Given the description of an element on the screen output the (x, y) to click on. 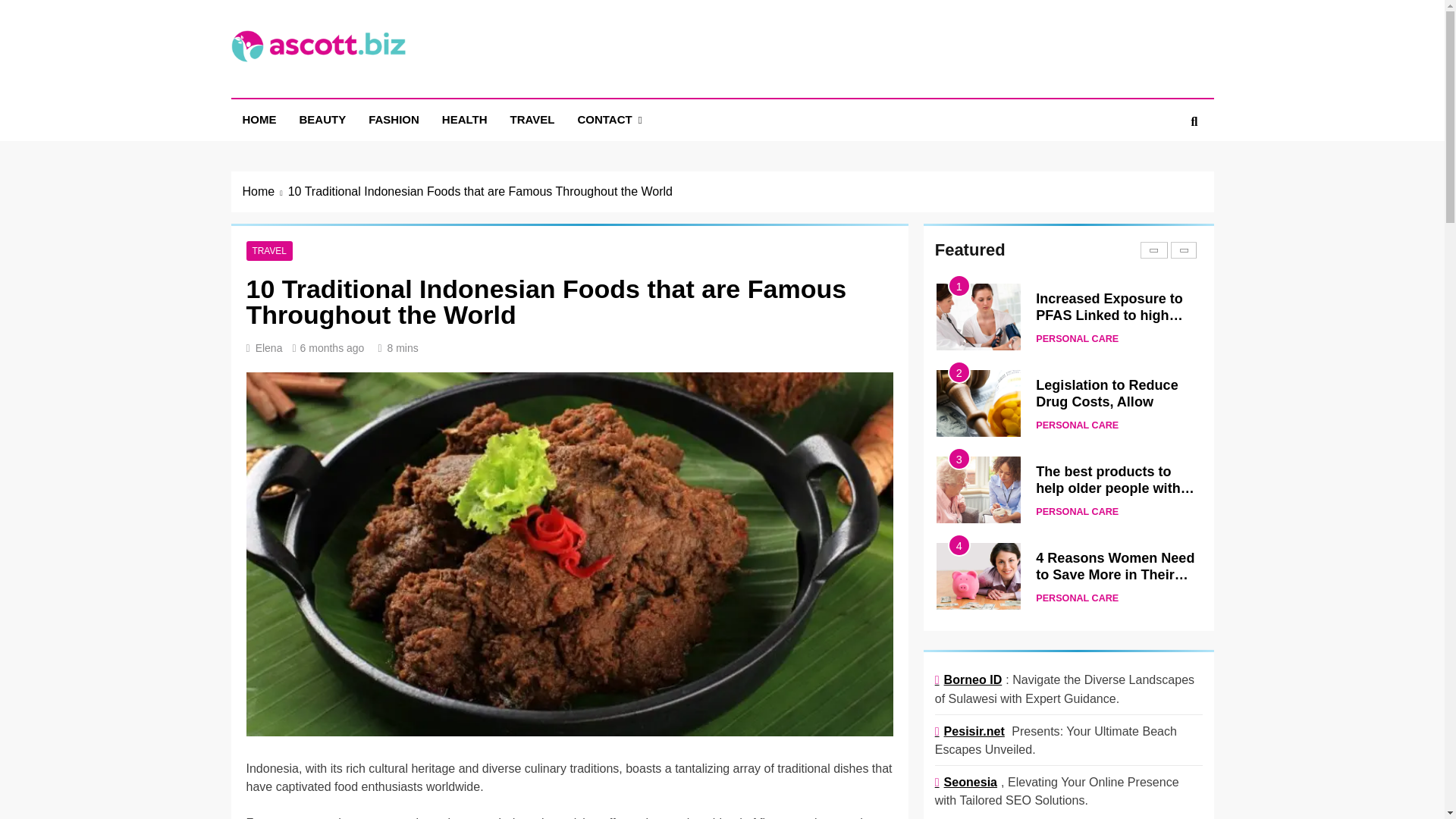
BEAUTY (323, 119)
6 months ago (332, 347)
Elena (269, 347)
HEALTH (464, 119)
Home (265, 191)
TRAVEL (532, 119)
CONTACT (609, 119)
Ascott (280, 84)
HOME (258, 119)
FASHION (393, 119)
